Given the description of an element on the screen output the (x, y) to click on. 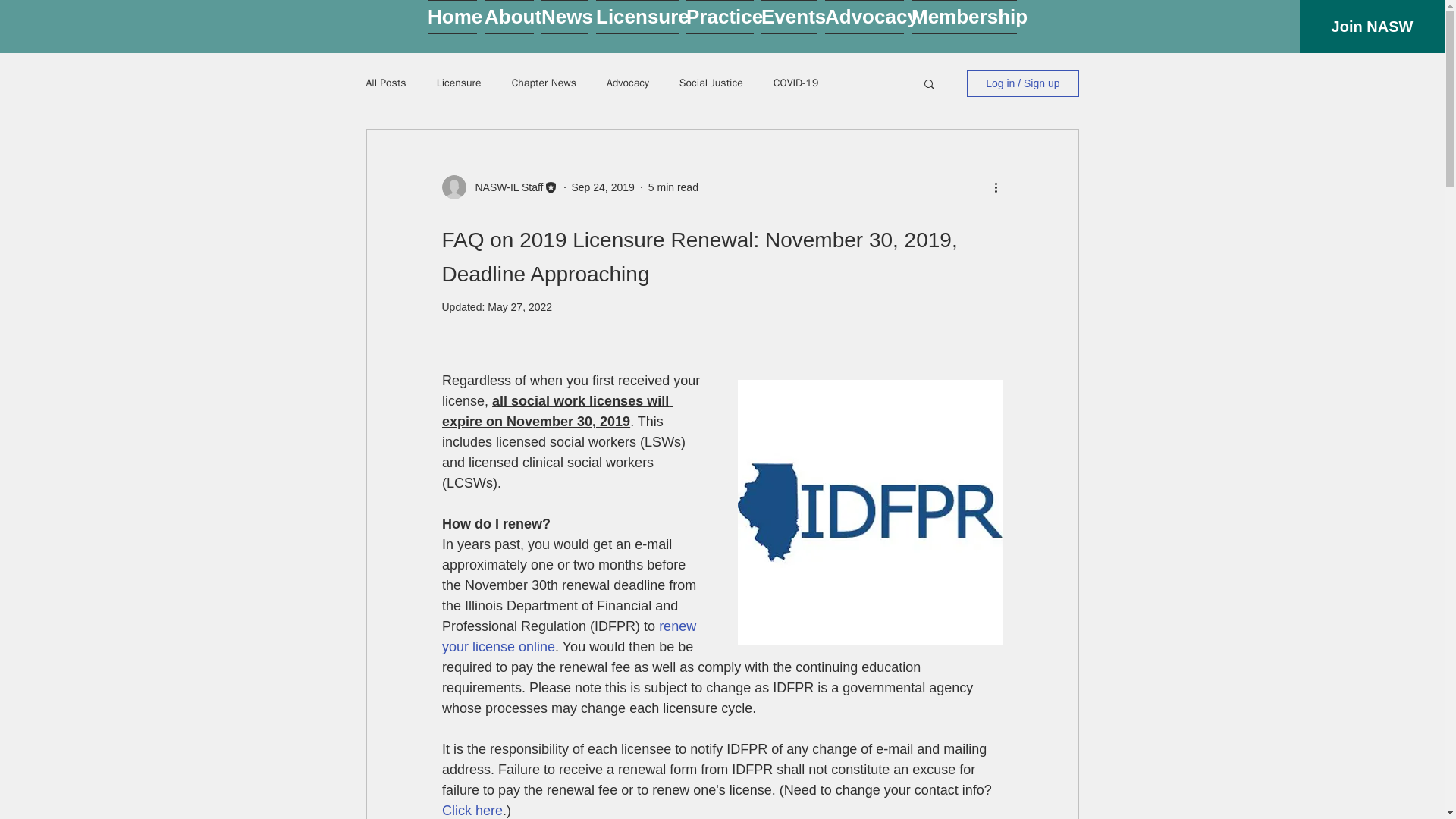
5 min read (672, 186)
Licensure (637, 17)
NASW-IL Staff (504, 186)
About (508, 17)
Practice (719, 17)
Sep 24, 2019 (603, 186)
May 27, 2022 (519, 306)
News (564, 17)
Home (451, 17)
Events (789, 17)
Membership (963, 17)
Advocacy (864, 17)
